Given the description of an element on the screen output the (x, y) to click on. 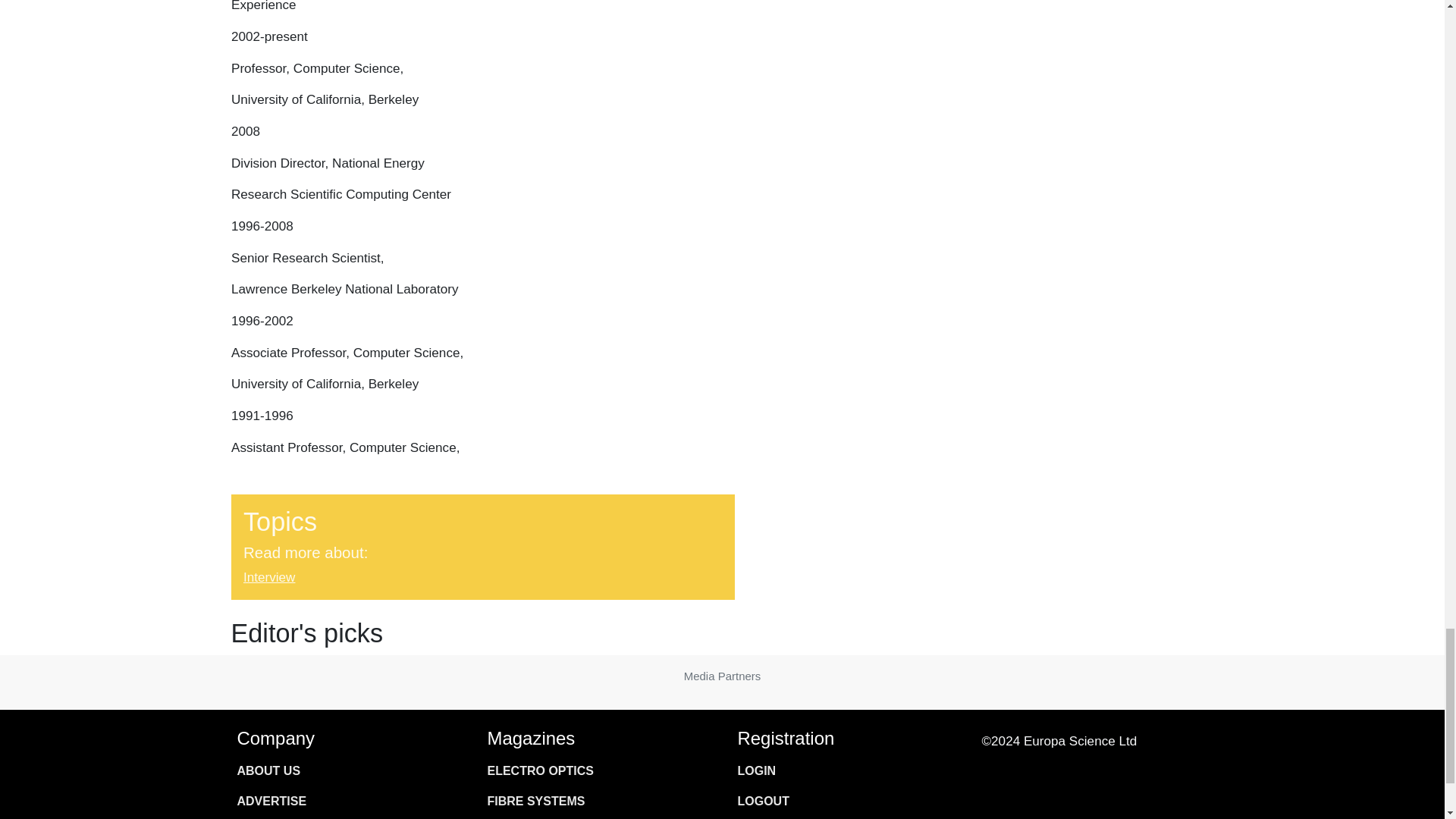
ABOUT US (346, 770)
ADVERTISE (346, 801)
Interview (268, 577)
